Given the description of an element on the screen output the (x, y) to click on. 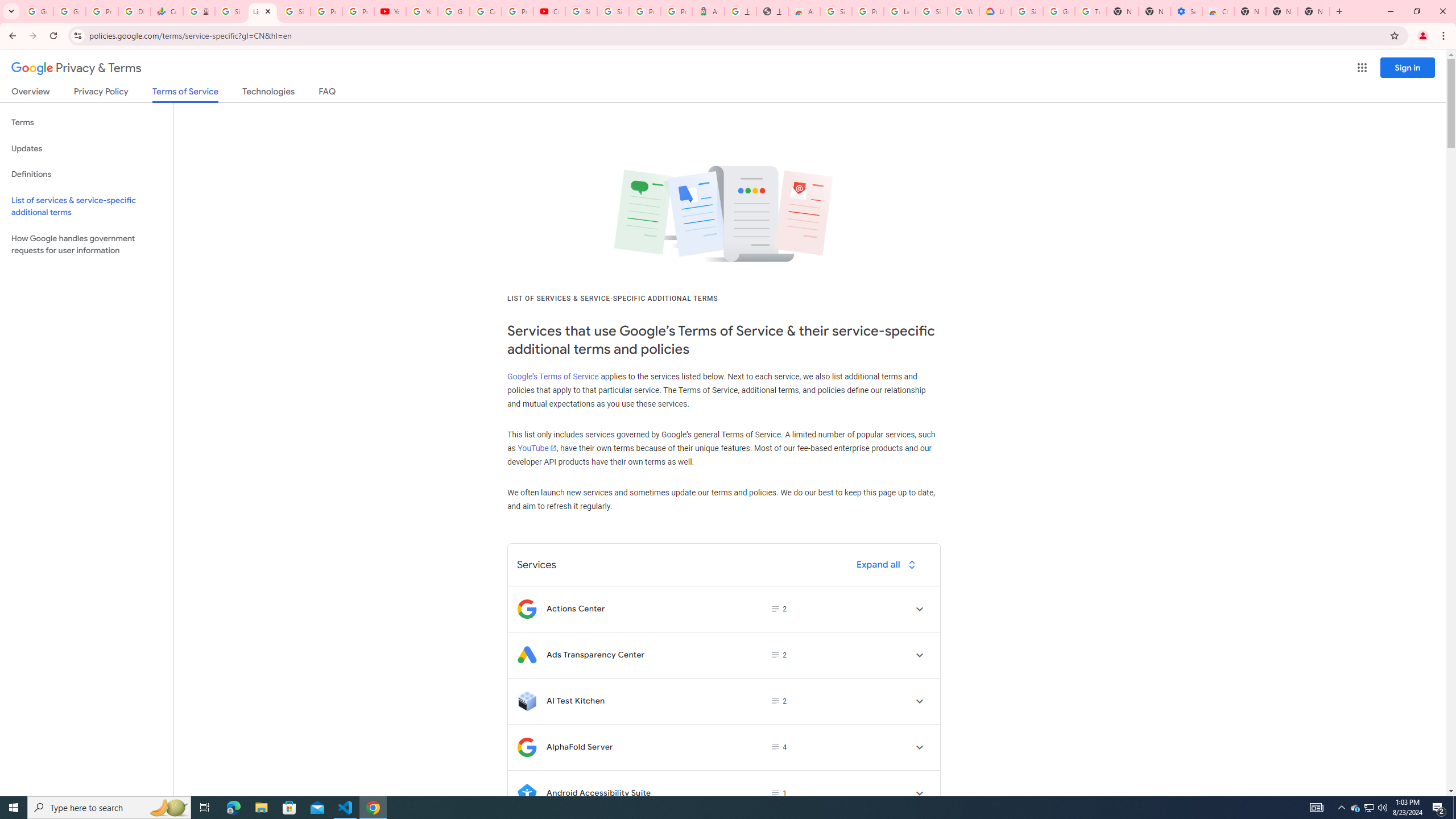
Google Account Help (453, 11)
Turn cookies on or off - Computer - Google Account Help (1091, 11)
Logo for Actions Center (526, 608)
Google Account Help (1059, 11)
Awesome Screen Recorder & Screenshot - Chrome Web Store (804, 11)
Atour Hotel - Google hotels (708, 11)
